Given the description of an element on the screen output the (x, y) to click on. 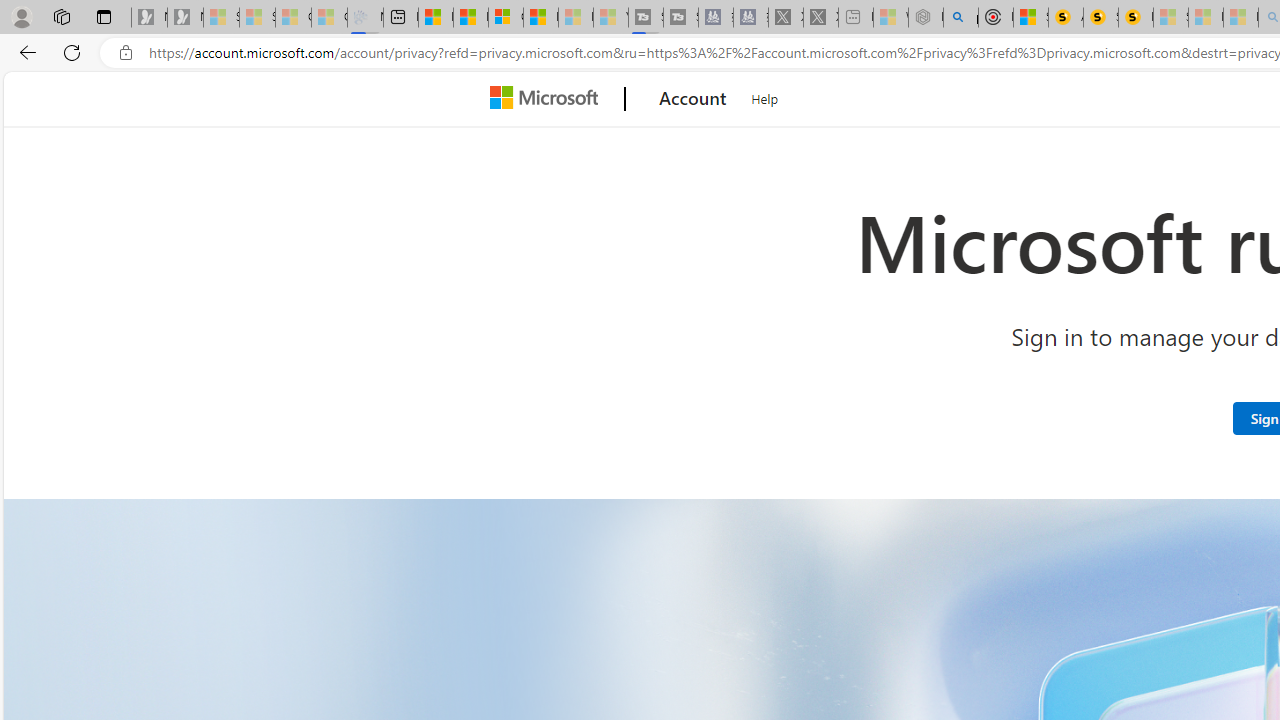
Nordace - Summer Adventures 2024 - Sleeping (925, 17)
poe - Search (960, 17)
Overview (506, 17)
Microsoft (548, 99)
Account (692, 99)
